Given the description of an element on the screen output the (x, y) to click on. 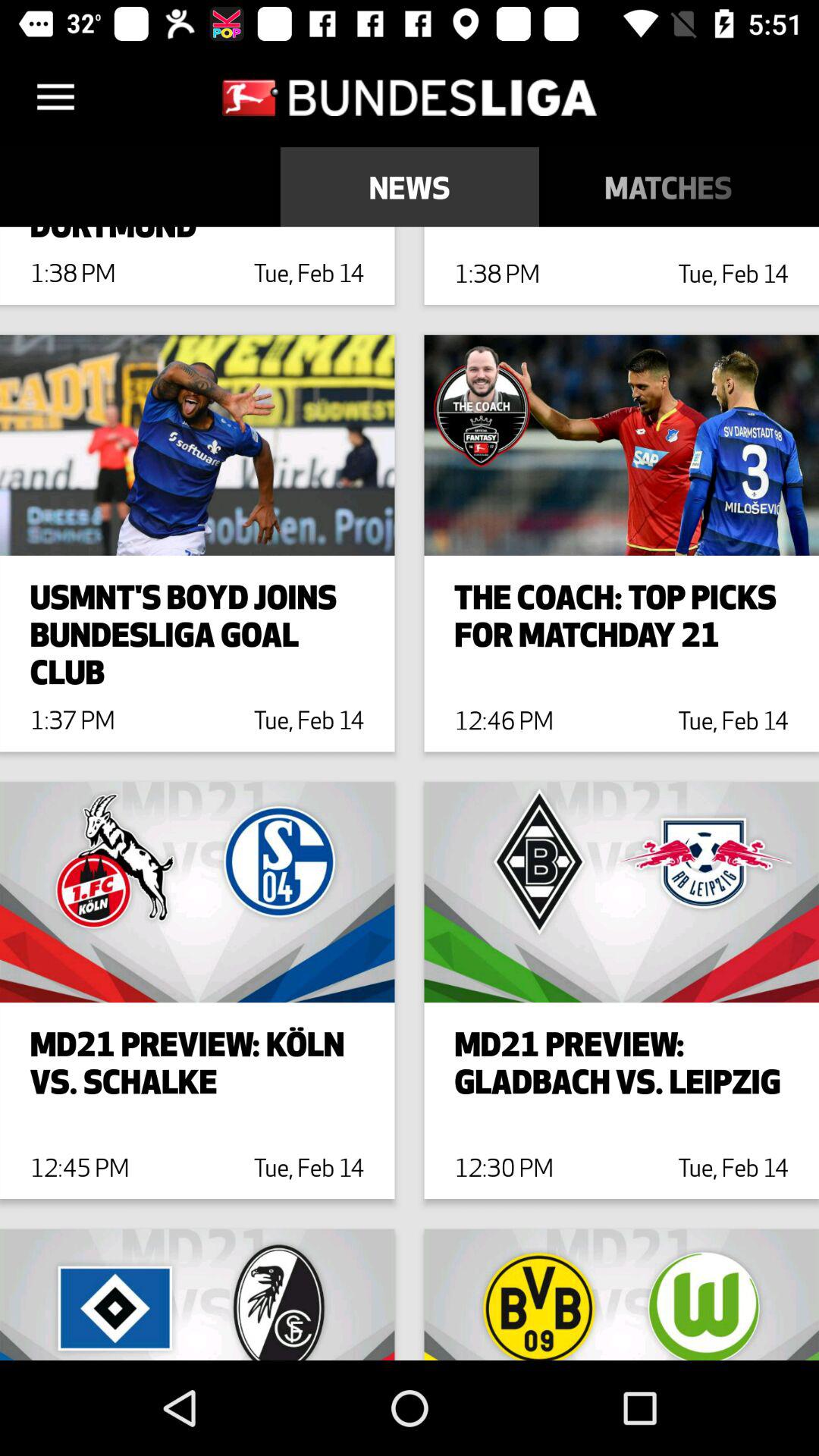
turn on matches icon (668, 186)
